Given the description of an element on the screen output the (x, y) to click on. 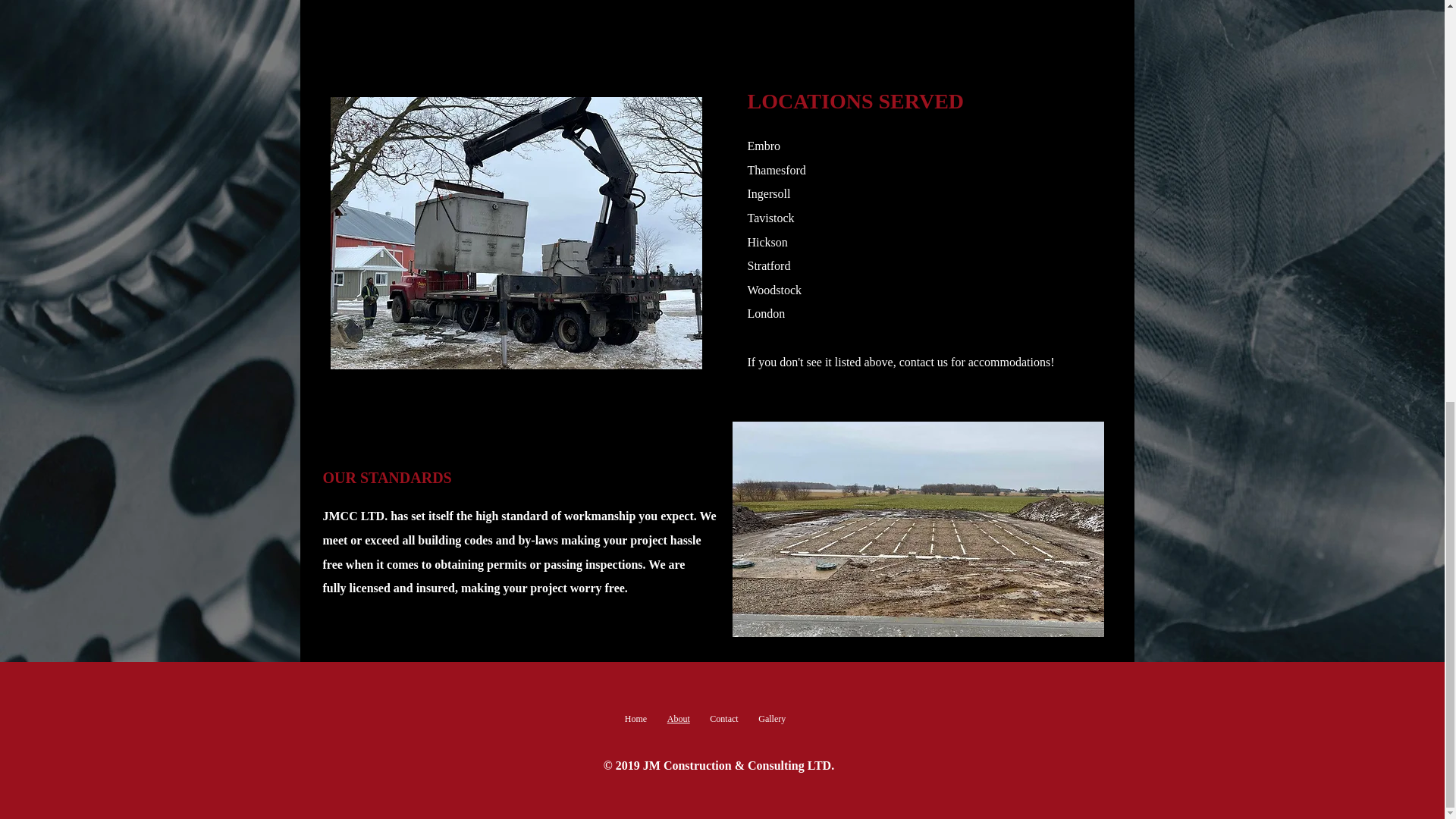
About (678, 718)
Contact (724, 718)
Home (635, 718)
Gallery (772, 718)
